Given the description of an element on the screen output the (x, y) to click on. 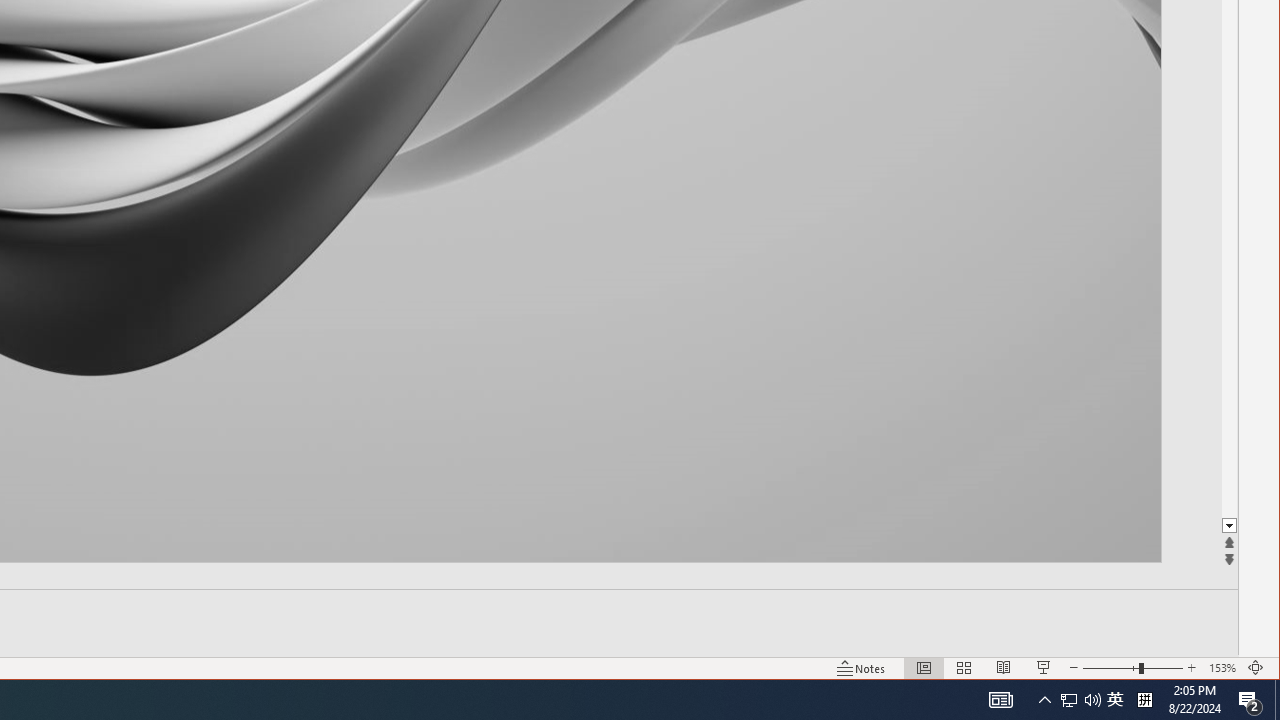
Show desktop (1277, 699)
Q2790: 100% (1092, 699)
Action Center, 2 new notifications (1250, 699)
User Promoted Notification Area (1080, 699)
